Given the description of an element on the screen output the (x, y) to click on. 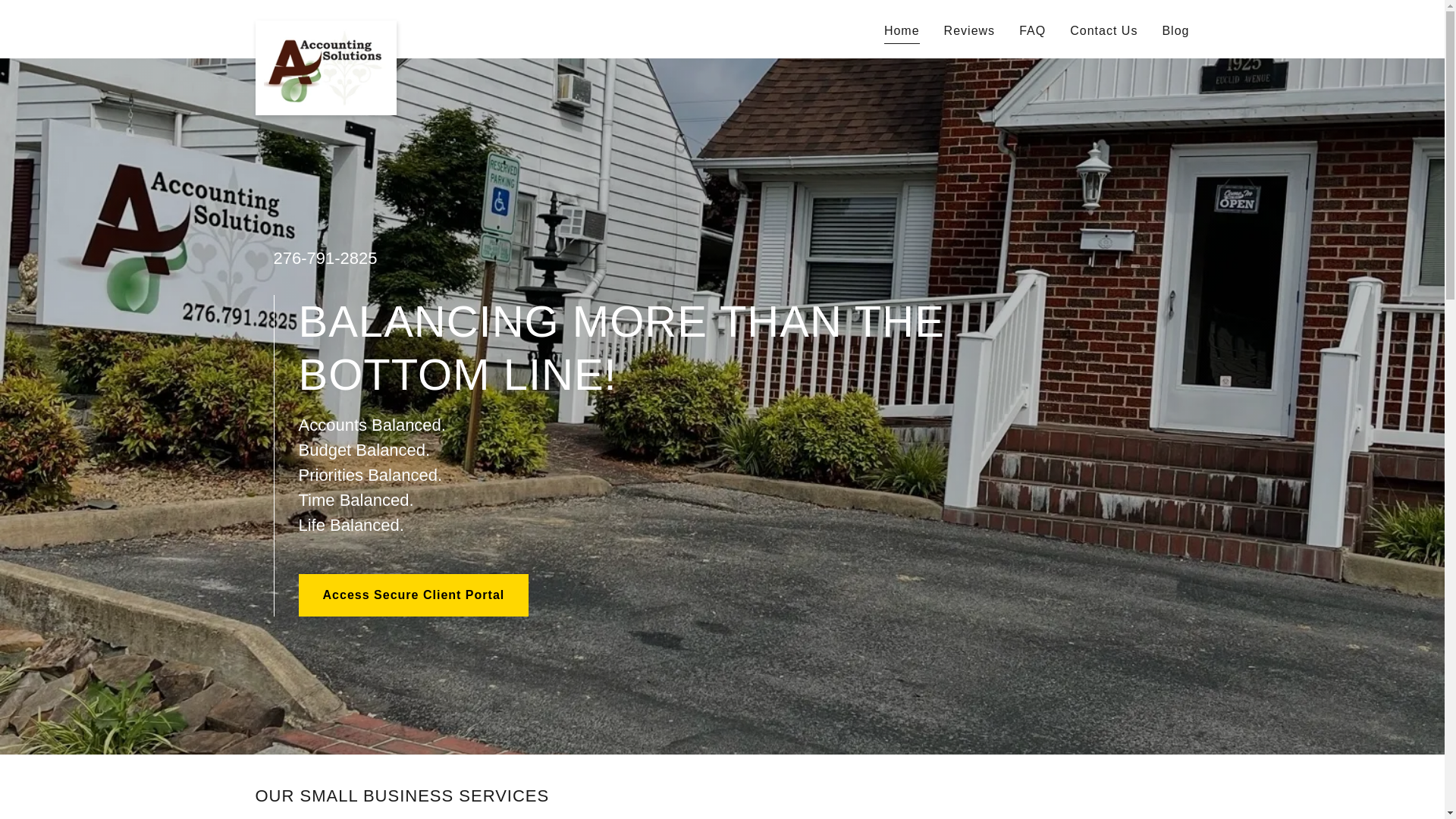
Blog (1175, 31)
Reviews (969, 31)
Contact Us (1103, 31)
276-791-2825 (325, 257)
Access Secure Client Portal (413, 595)
Home (901, 33)
Accounting Solutions (325, 25)
FAQ (1031, 31)
